Given the description of an element on the screen output the (x, y) to click on. 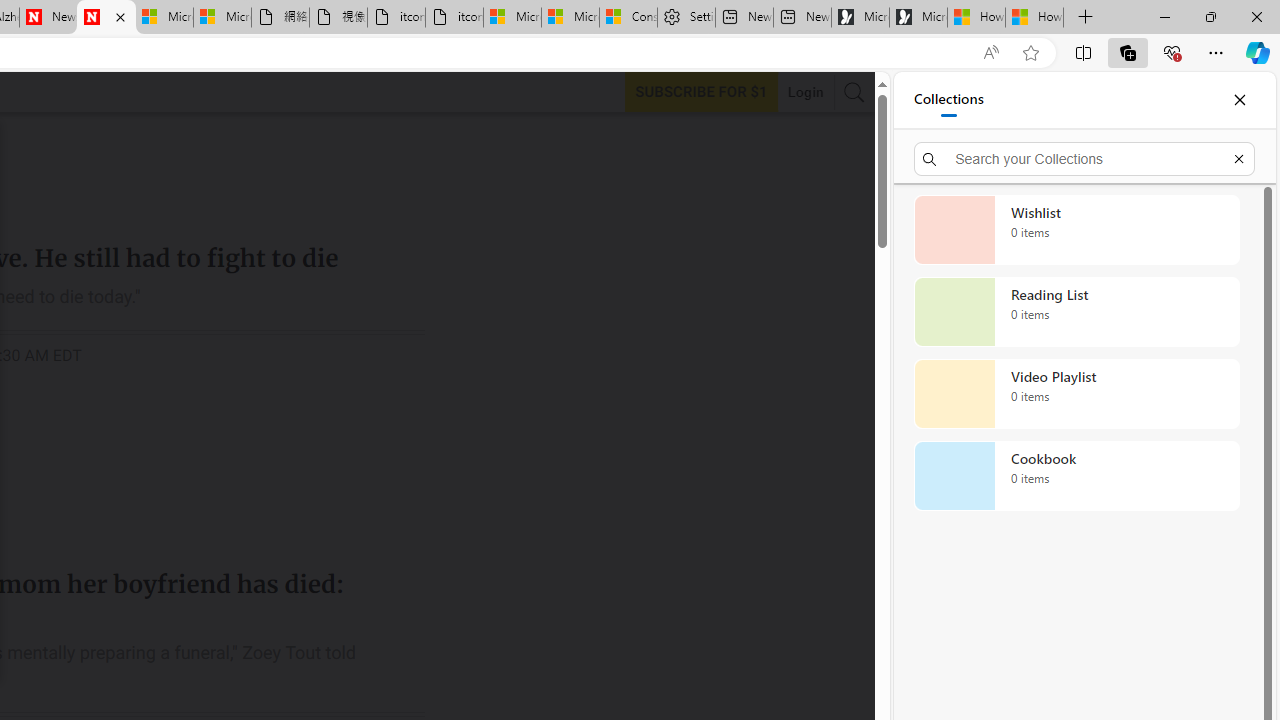
AutomationID: search-btn (854, 92)
Newsweek - News, Analysis, Politics, Business, Technology (48, 17)
Search your Collections (1084, 158)
Cookbook collection, 0 items (1076, 475)
Login (805, 92)
